Given the description of an element on the screen output the (x, y) to click on. 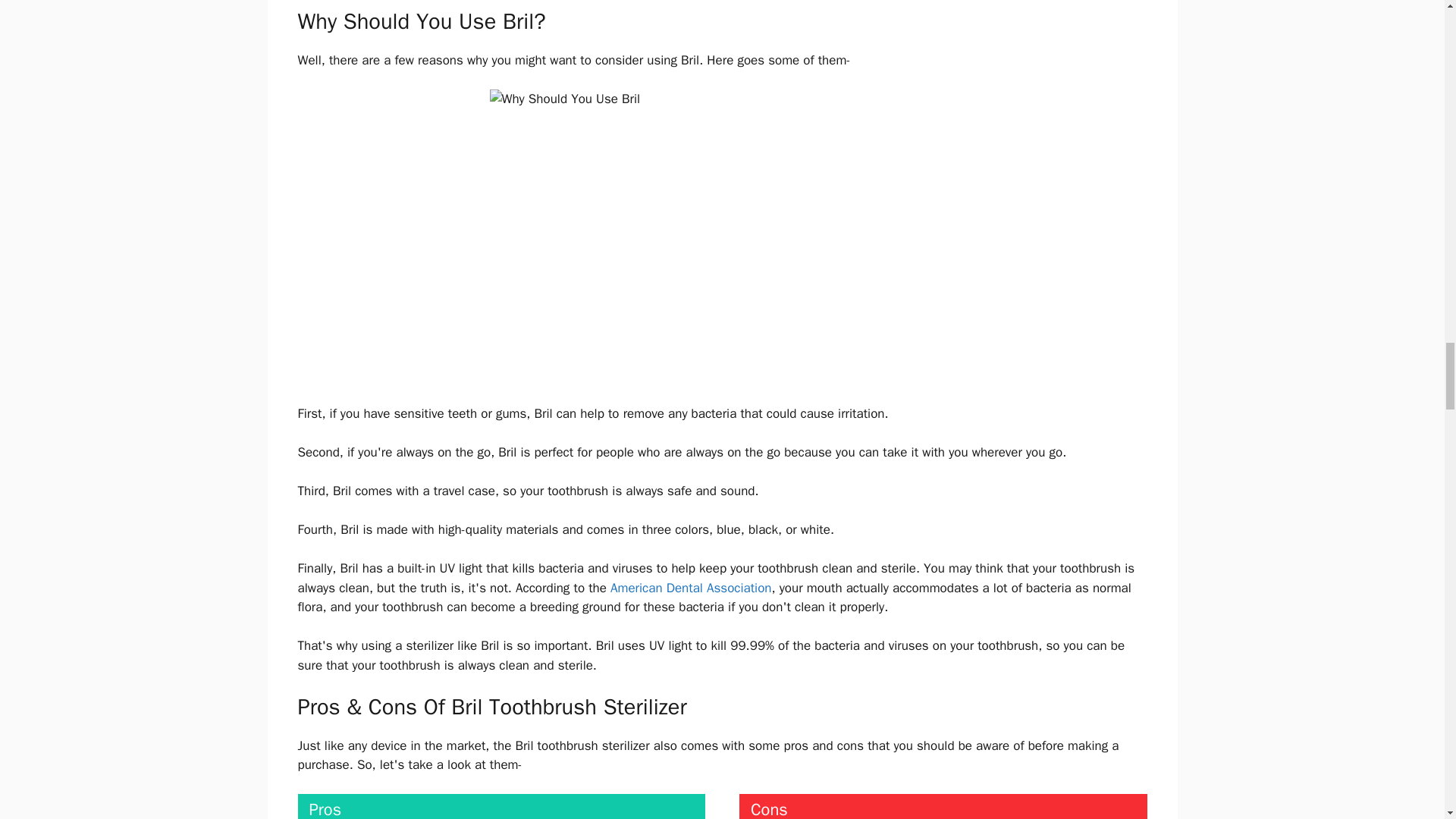
American Dental Association (690, 587)
